Given the description of an element on the screen output the (x, y) to click on. 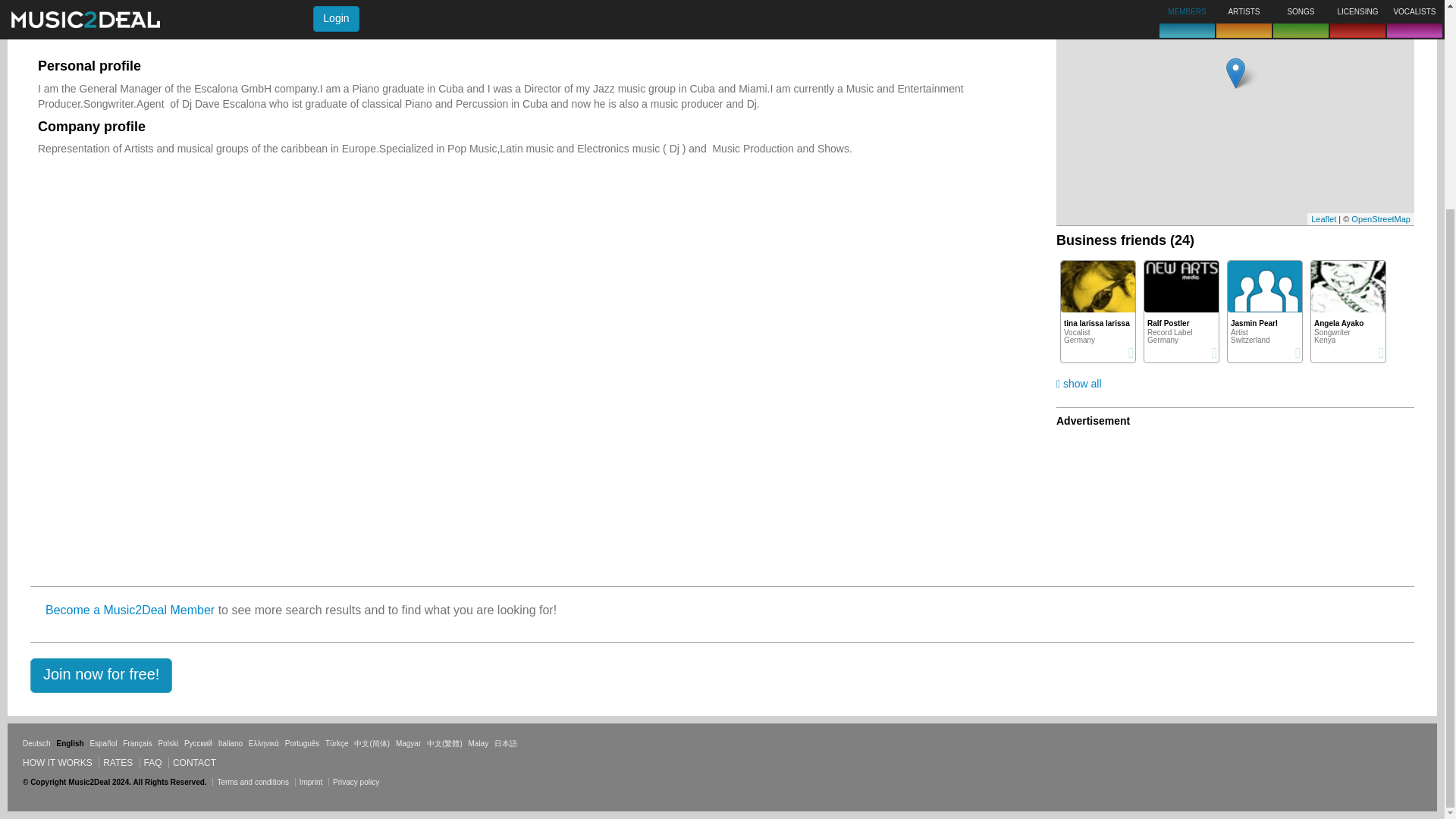
Greek (263, 743)
A JS library for interactive maps (1323, 217)
Leaflet (1323, 217)
show all (1079, 384)
German (36, 743)
register (100, 675)
Become a Music2Deal Member (129, 609)
Russian (198, 743)
3rd party ad content (1124, 499)
Join now for free! (100, 675)
